Given the description of an element on the screen output the (x, y) to click on. 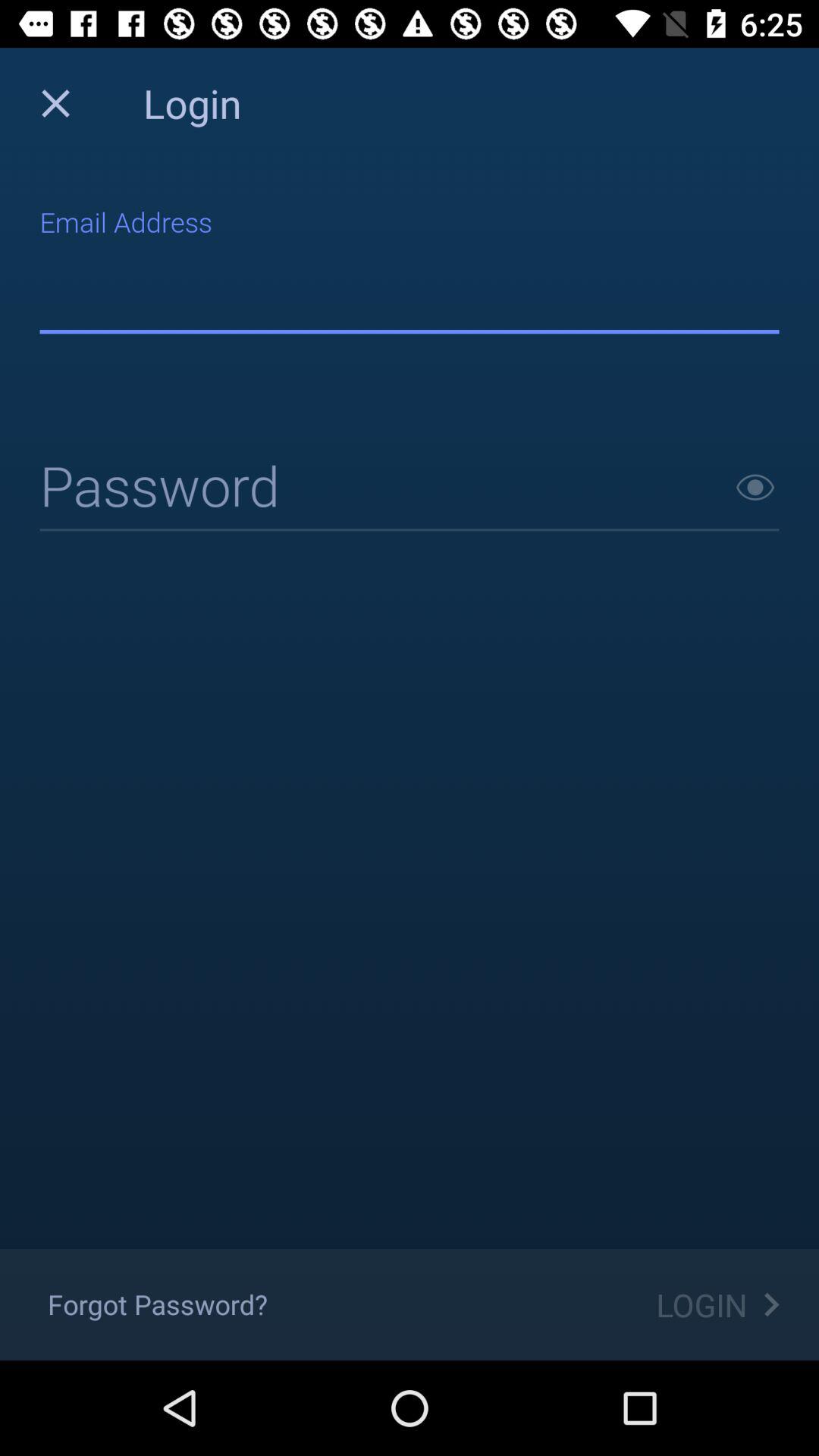
go to next (755, 487)
